Given the description of an element on the screen output the (x, y) to click on. 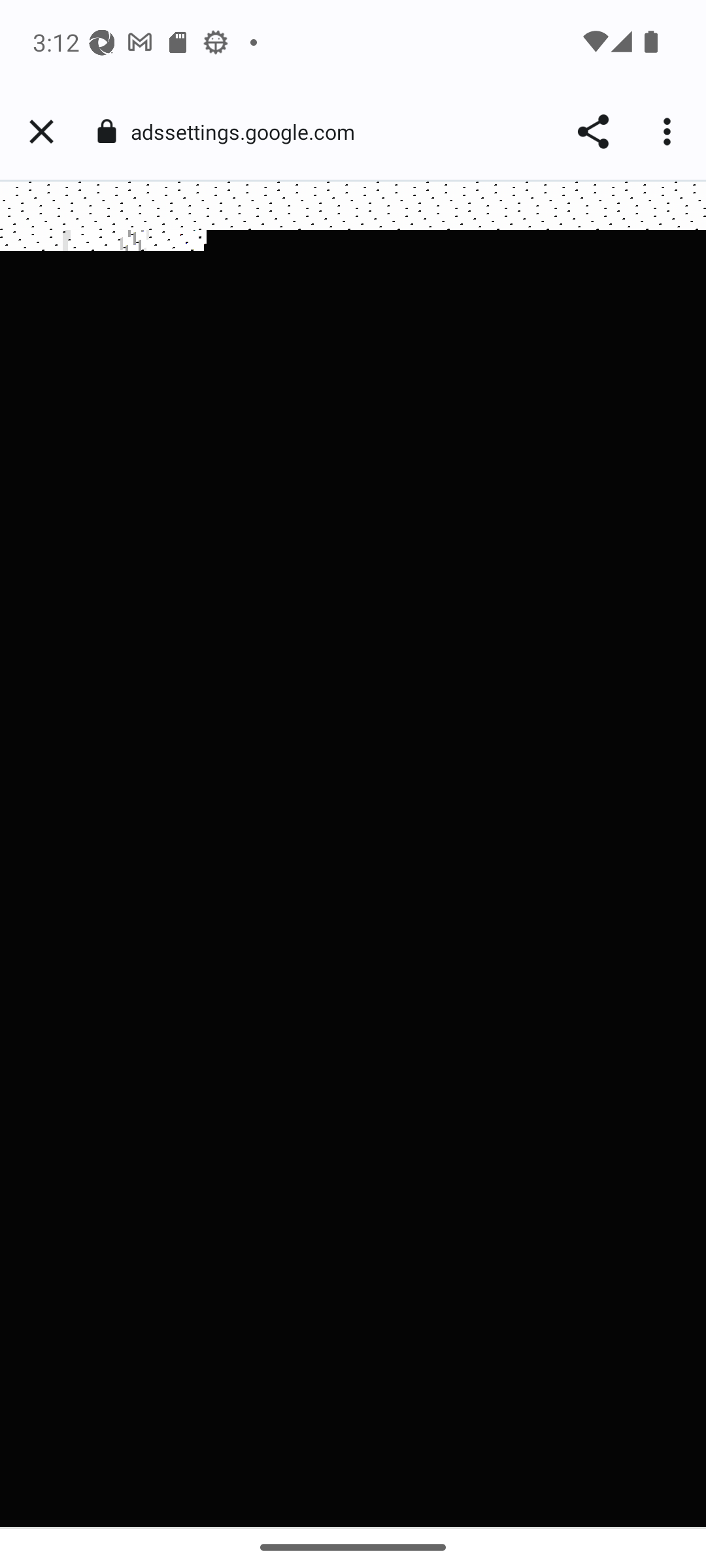
Close tab (41, 131)
Share (592, 131)
More options (669, 131)
Connection is secure (106, 131)
adssettings.google.com (249, 131)
